Given the description of an element on the screen output the (x, y) to click on. 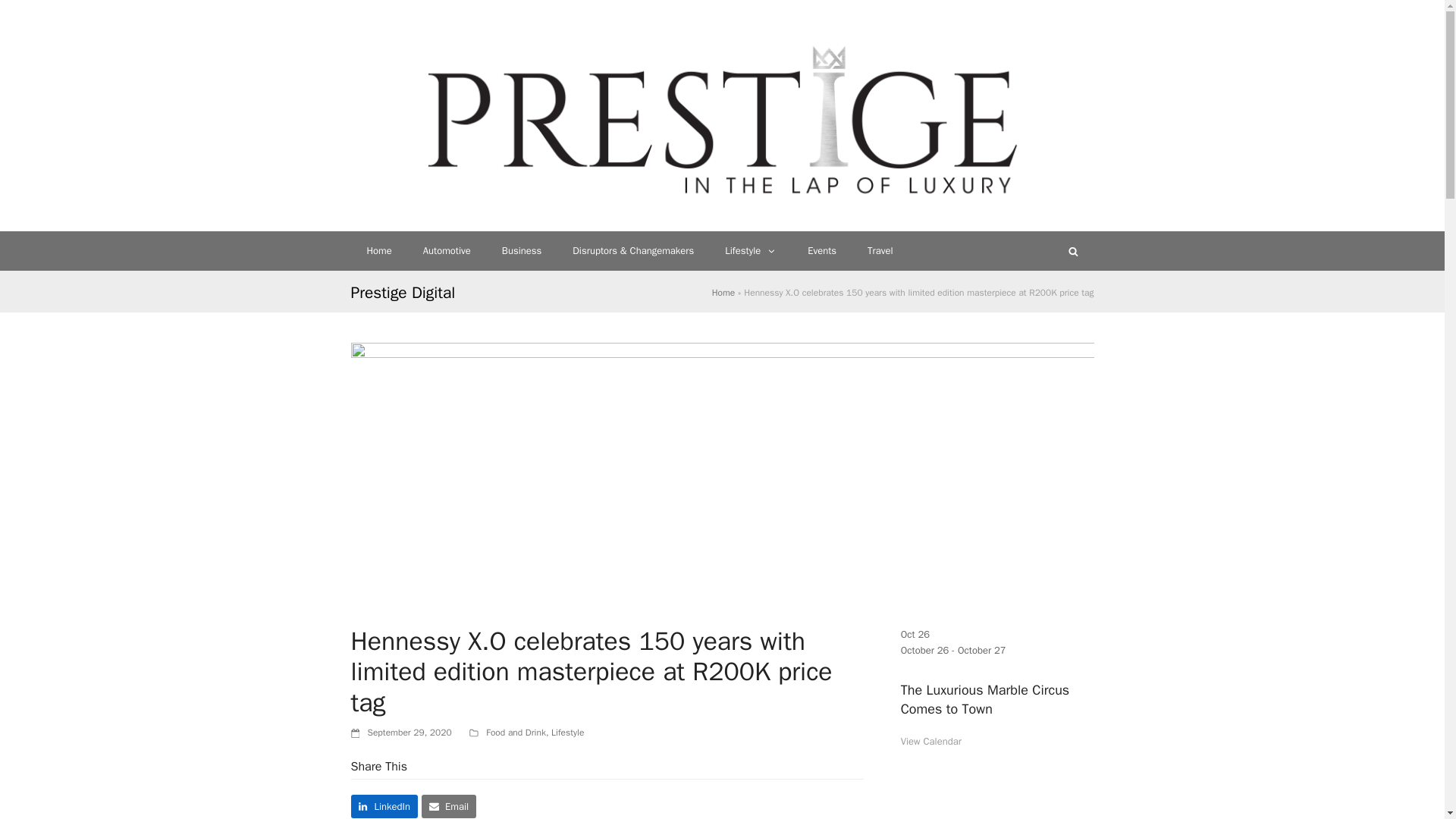
Email (449, 806)
Travel (879, 250)
Lifestyle (751, 250)
Events (821, 250)
The Luxurious Marble Circus Comes to Town (985, 699)
Food and Drink (516, 732)
Business (521, 250)
Lifestyle (567, 732)
View Calendar (930, 740)
The Luxurious Marble Circus Comes to Town (985, 699)
